Given the description of an element on the screen output the (x, y) to click on. 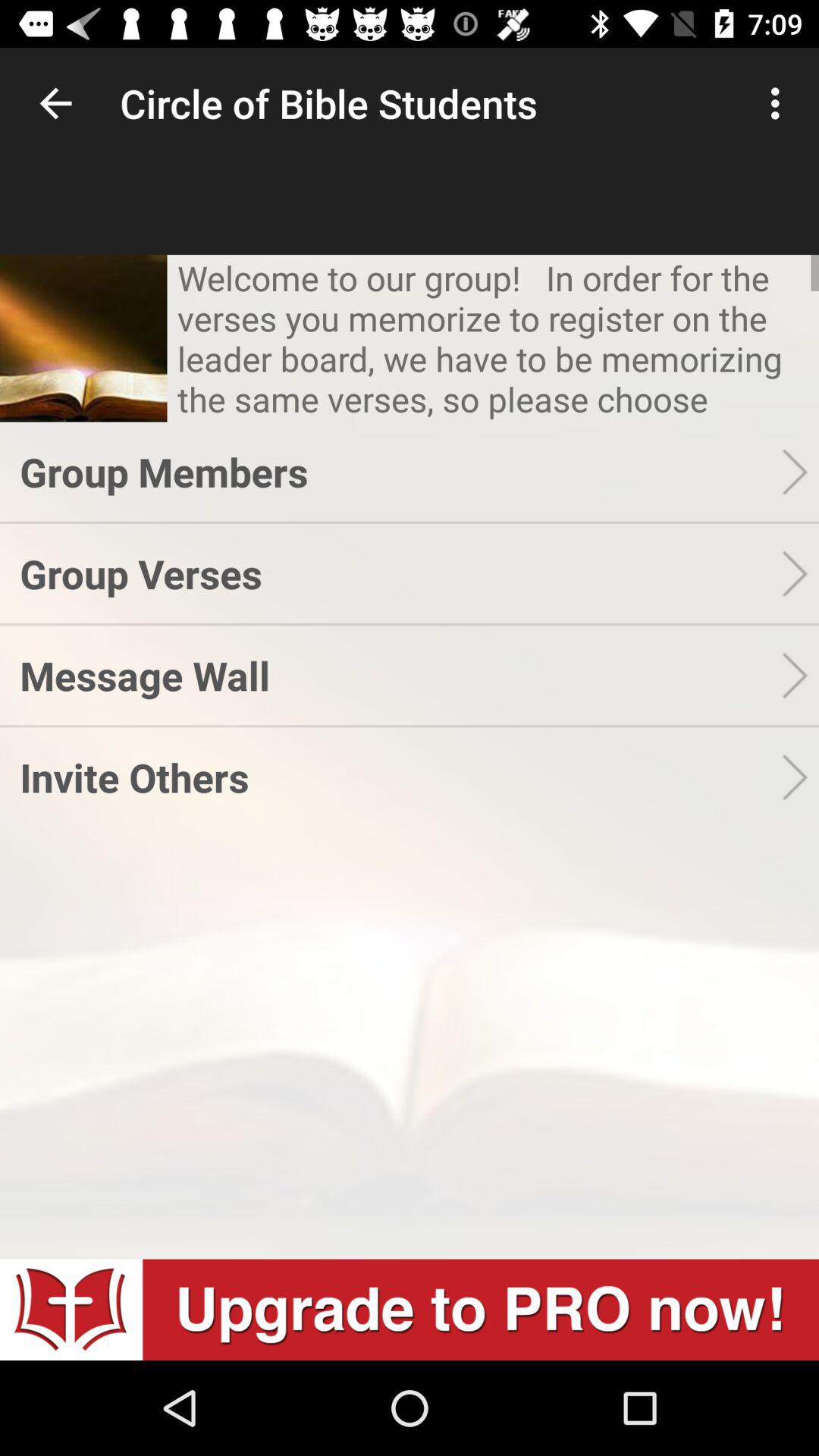
flip until group members app (399, 471)
